Given the description of an element on the screen output the (x, y) to click on. 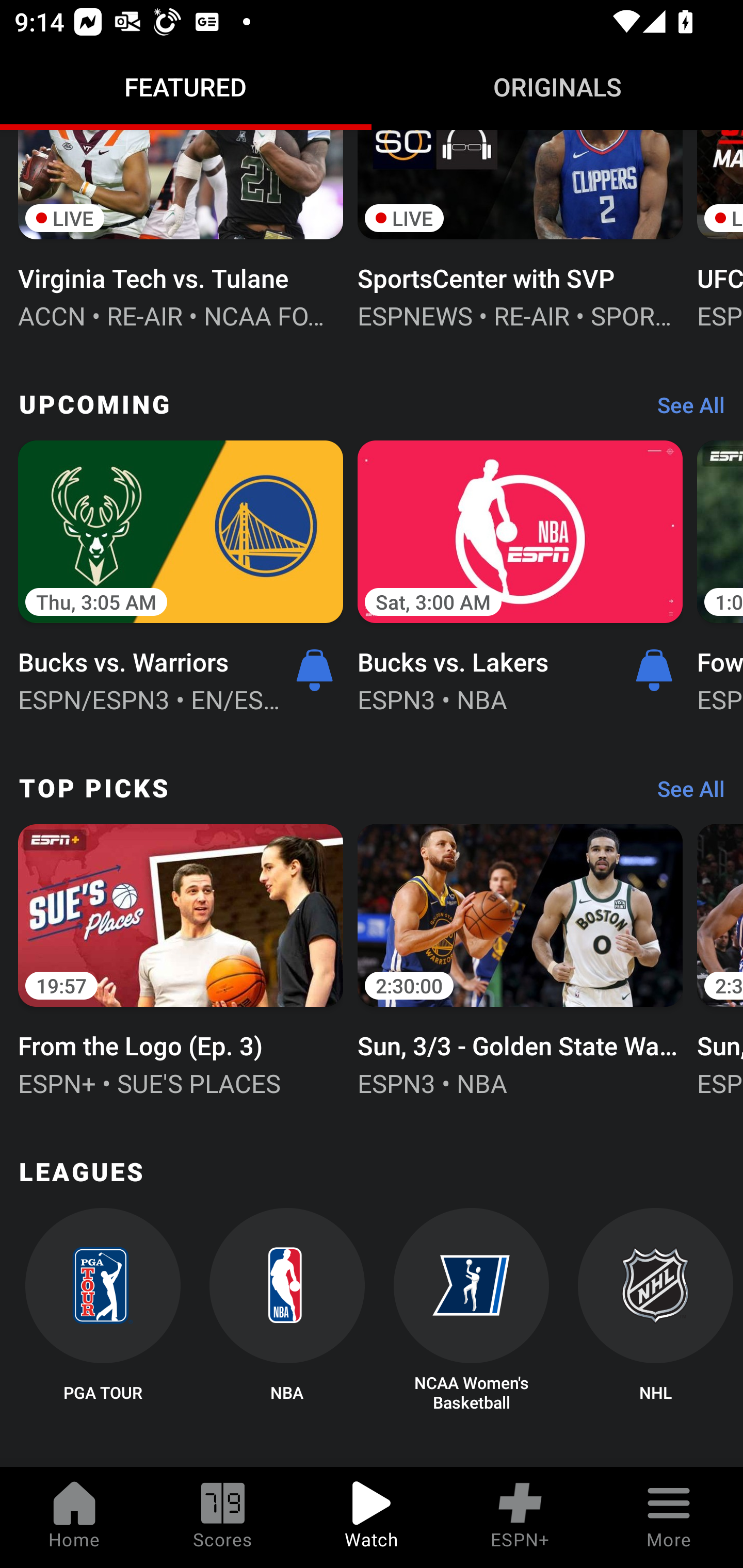
Originals ORIGINALS (557, 86)
See All (683, 409)
See All (683, 792)
19:57 From the Logo (Ep. 3) ESPN+ • SUE'S PLACES (180, 958)
PGA TOUR (102, 1310)
NBA (286, 1310)
NCAA Women's Basketball (471, 1310)
NHL (655, 1310)
Home (74, 1517)
Scores (222, 1517)
ESPN+ (519, 1517)
More (668, 1517)
